Given the description of an element on the screen output the (x, y) to click on. 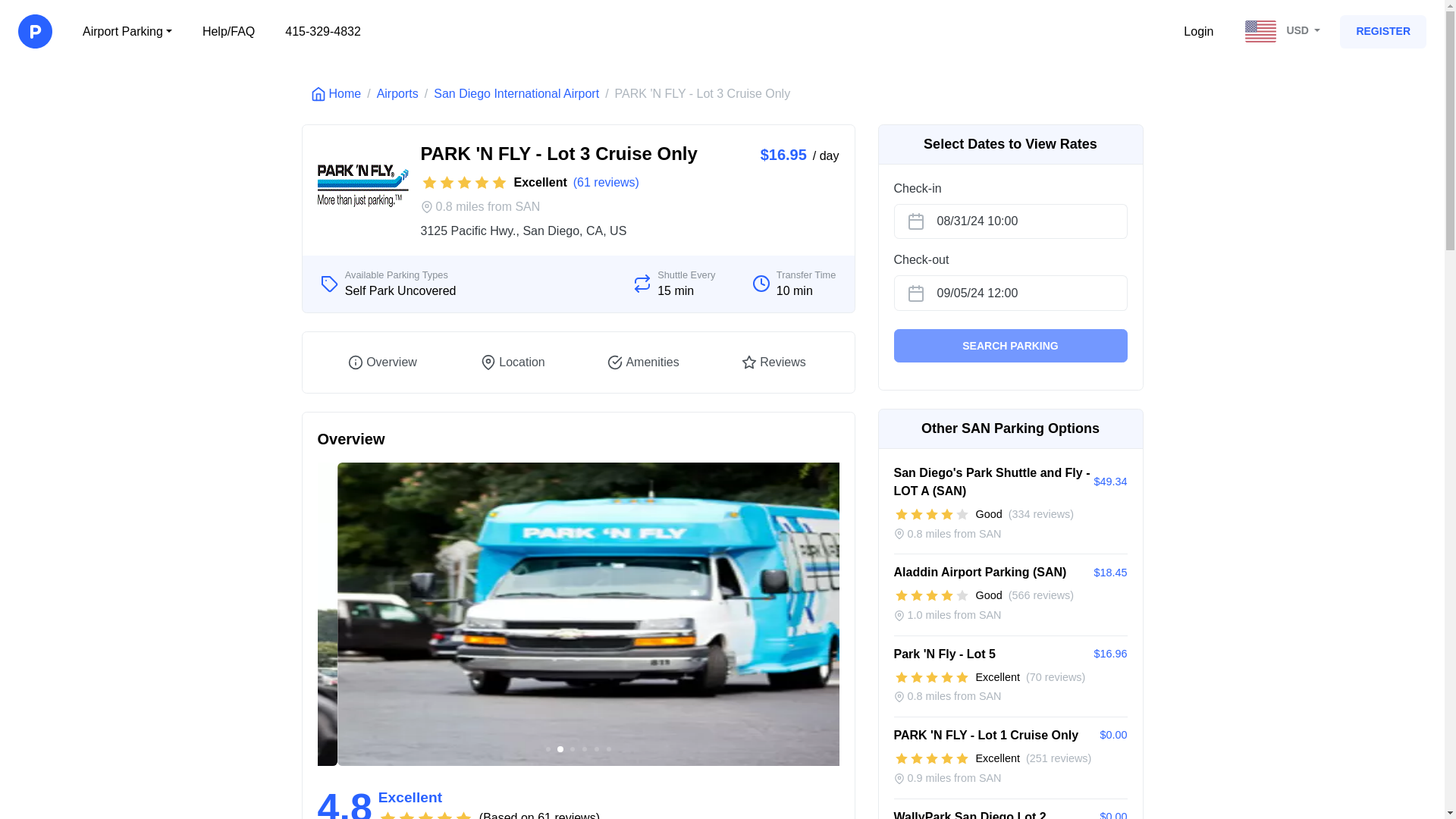
Location (512, 362)
415-329-4832 (322, 31)
Reviews (773, 362)
San Diego International Airport (515, 94)
Home (336, 94)
Airports (398, 94)
REGISTER (1382, 31)
SEARCH PARKING (1009, 345)
Login (1198, 31)
USD (1284, 31)
